Given the description of an element on the screen output the (x, y) to click on. 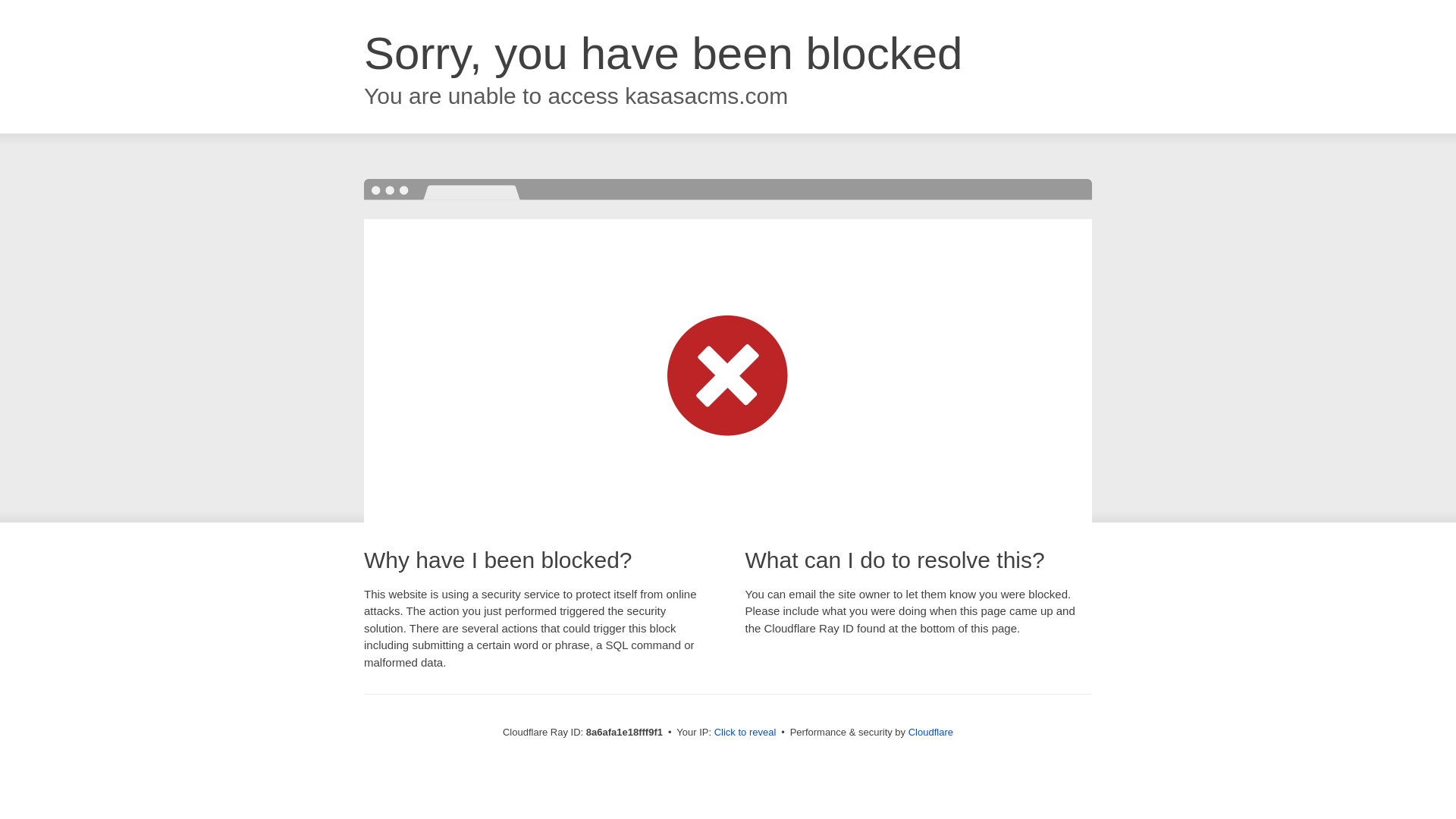
Click to reveal (745, 732)
Cloudflare (930, 731)
